Given the description of an element on the screen output the (x, y) to click on. 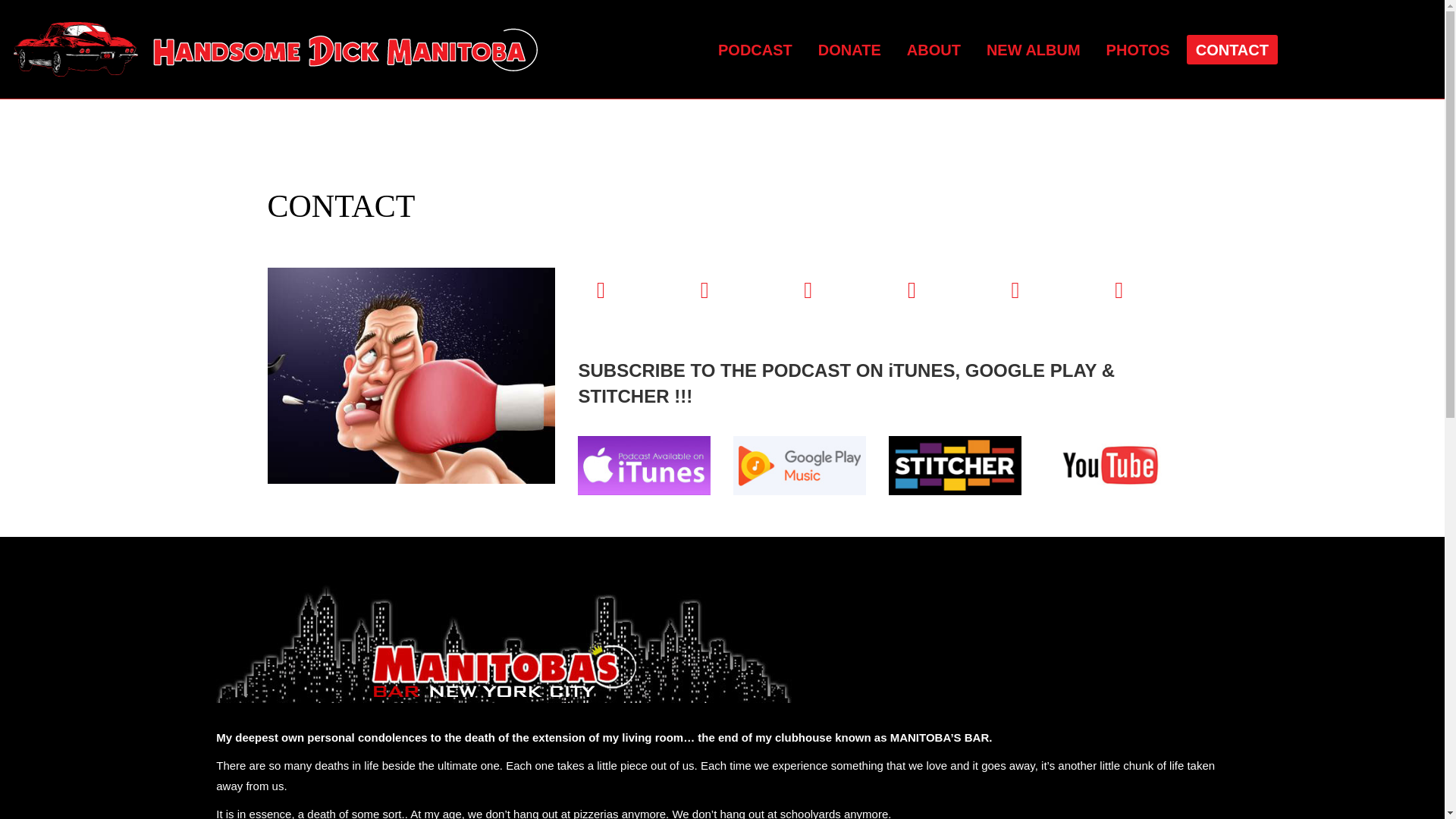
CONTACT (1232, 49)
CONTACT (340, 206)
stitcher (955, 465)
itunes (644, 465)
google-play (799, 465)
youtube (1109, 465)
DONATE (849, 49)
contact (410, 375)
ABOUT (933, 49)
PHOTOS (1138, 49)
PODCAST (755, 49)
NEW ALBUM (1032, 49)
manitobas-bar (503, 642)
